Given the description of an element on the screen output the (x, y) to click on. 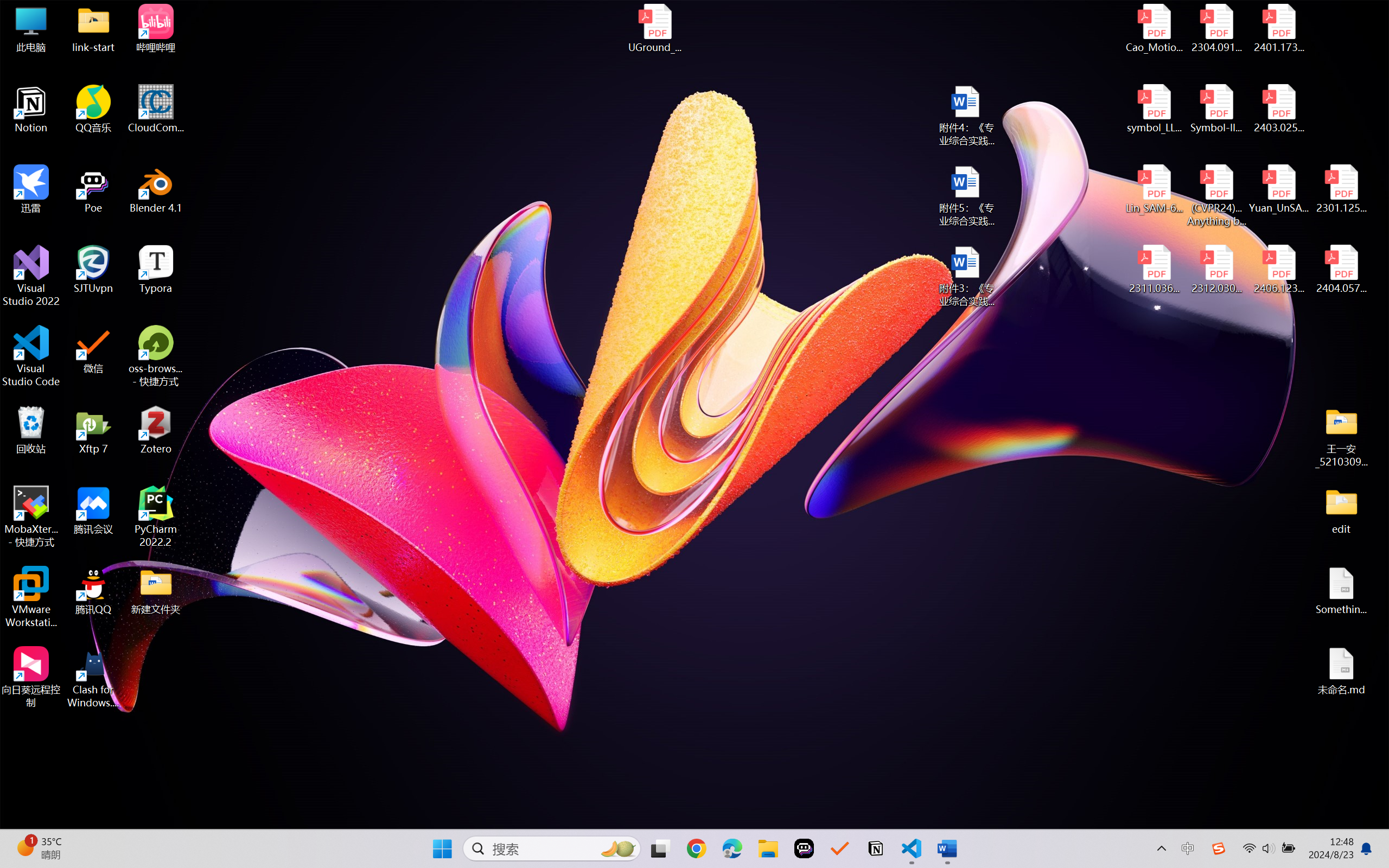
Xftp 7 (93, 430)
Blender 4.1 (156, 189)
Visual Studio Code (31, 355)
2301.12597v3.pdf (1340, 189)
